Given the description of an element on the screen output the (x, y) to click on. 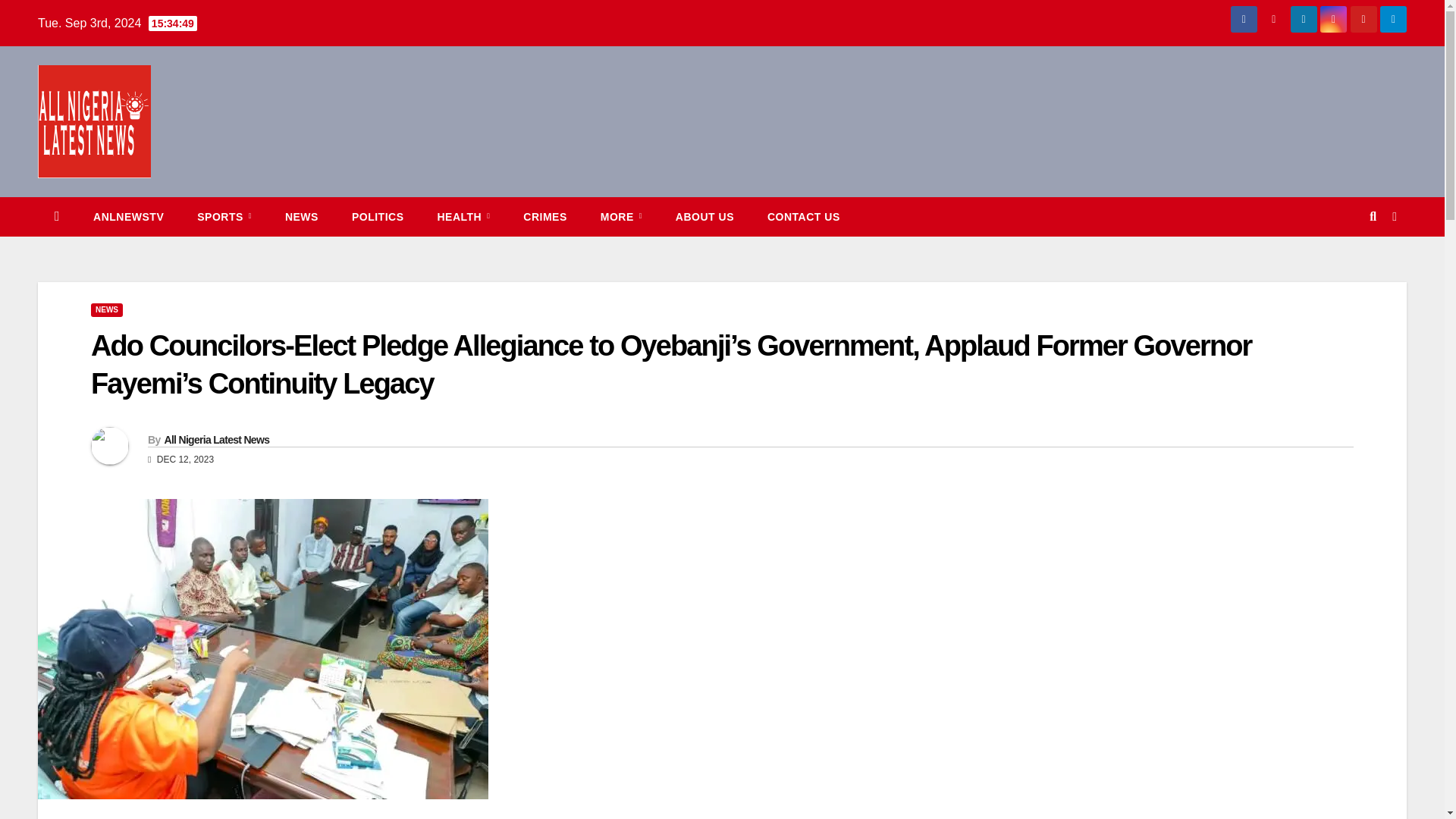
Politics (377, 216)
HEALTH (463, 216)
NEWS (106, 309)
Health (463, 216)
ABOUT US (705, 216)
ANLNewsTV (128, 216)
POLITICS (377, 216)
NEWS (300, 216)
CRIMES (544, 216)
SPORTS (223, 216)
